Given the description of an element on the screen output the (x, y) to click on. 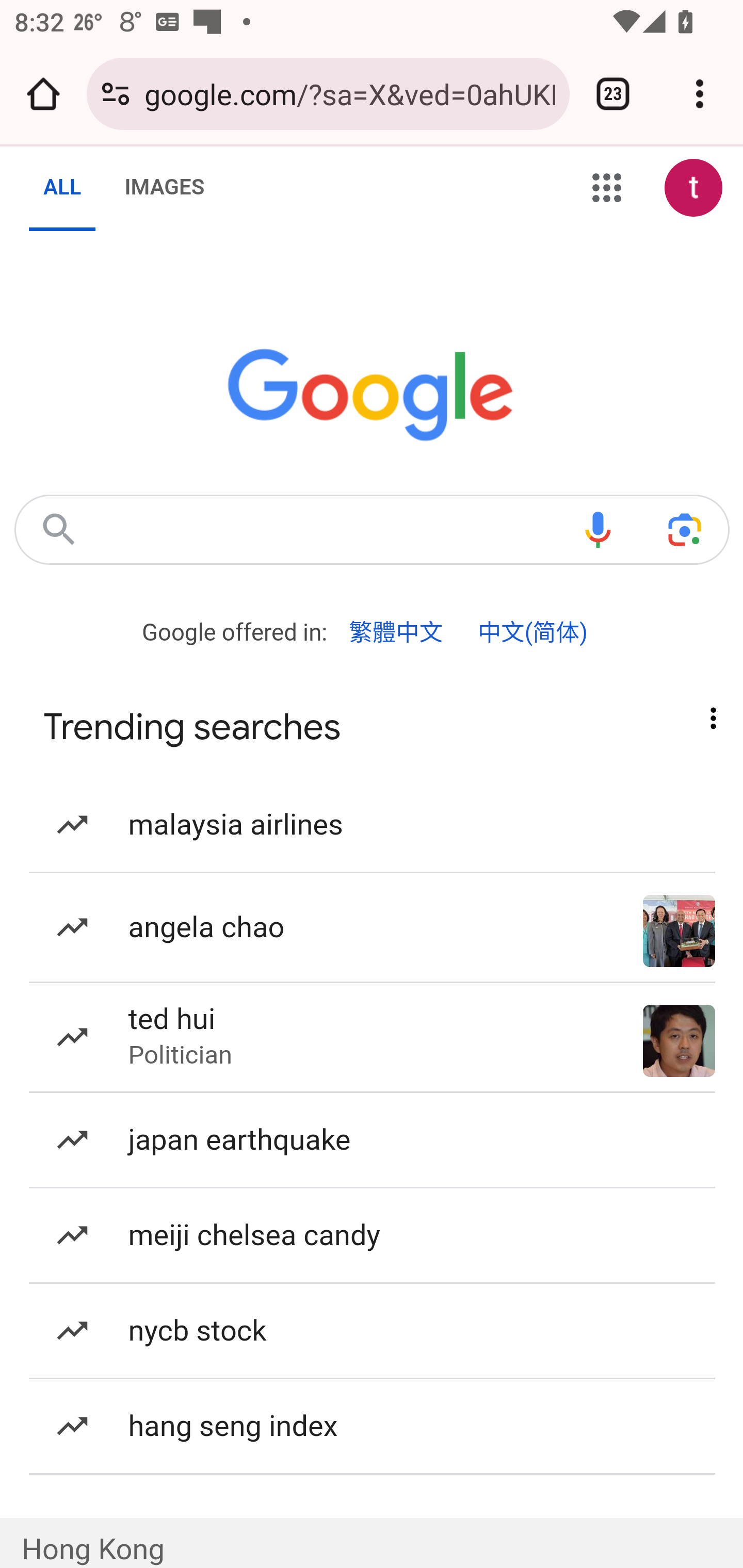
Open the home page (43, 93)
Connection is secure (115, 93)
Switch or close tabs (612, 93)
Customize and control Google Chrome (699, 93)
IMAGES (164, 188)
Google apps (607, 188)
Google Search (58, 528)
Search using your camera or photos (684, 528)
繁體中文 (395, 632)
中文(简体) (532, 632)
malaysia airlines (372, 824)
angela chao (372, 927)
ted hui Politician ted hui Politician (372, 1037)
japan earthquake (372, 1140)
meiji chelsea candy (372, 1236)
nycb stock (372, 1331)
hang seng index (372, 1424)
